Given the description of an element on the screen output the (x, y) to click on. 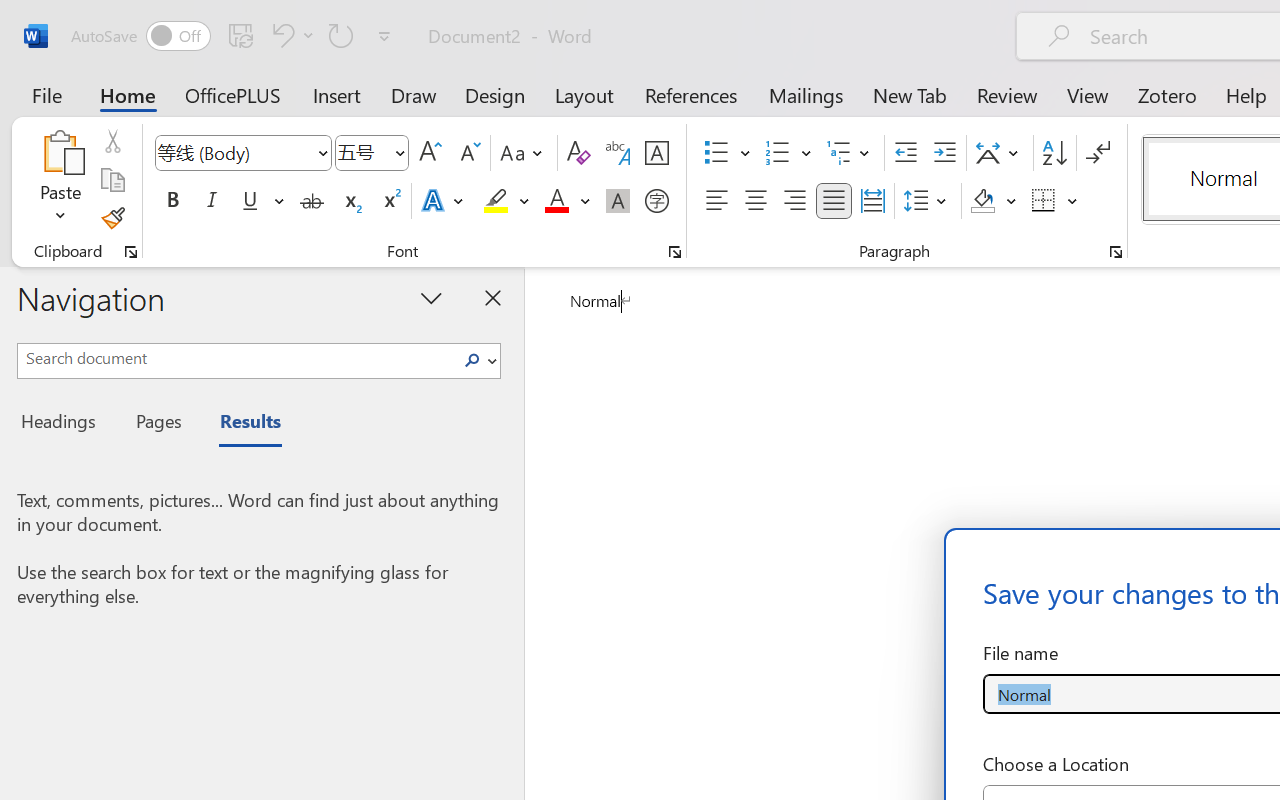
Zotero (1166, 94)
Insert (337, 94)
Text Highlight Color (506, 201)
Multilevel List (850, 153)
Undo Apply Quick Style (290, 35)
Align Right (794, 201)
Grow Font (430, 153)
References (690, 94)
Layout (584, 94)
Quick Access Toolbar (233, 36)
Results (240, 424)
Draw (413, 94)
